Given the description of an element on the screen output the (x, y) to click on. 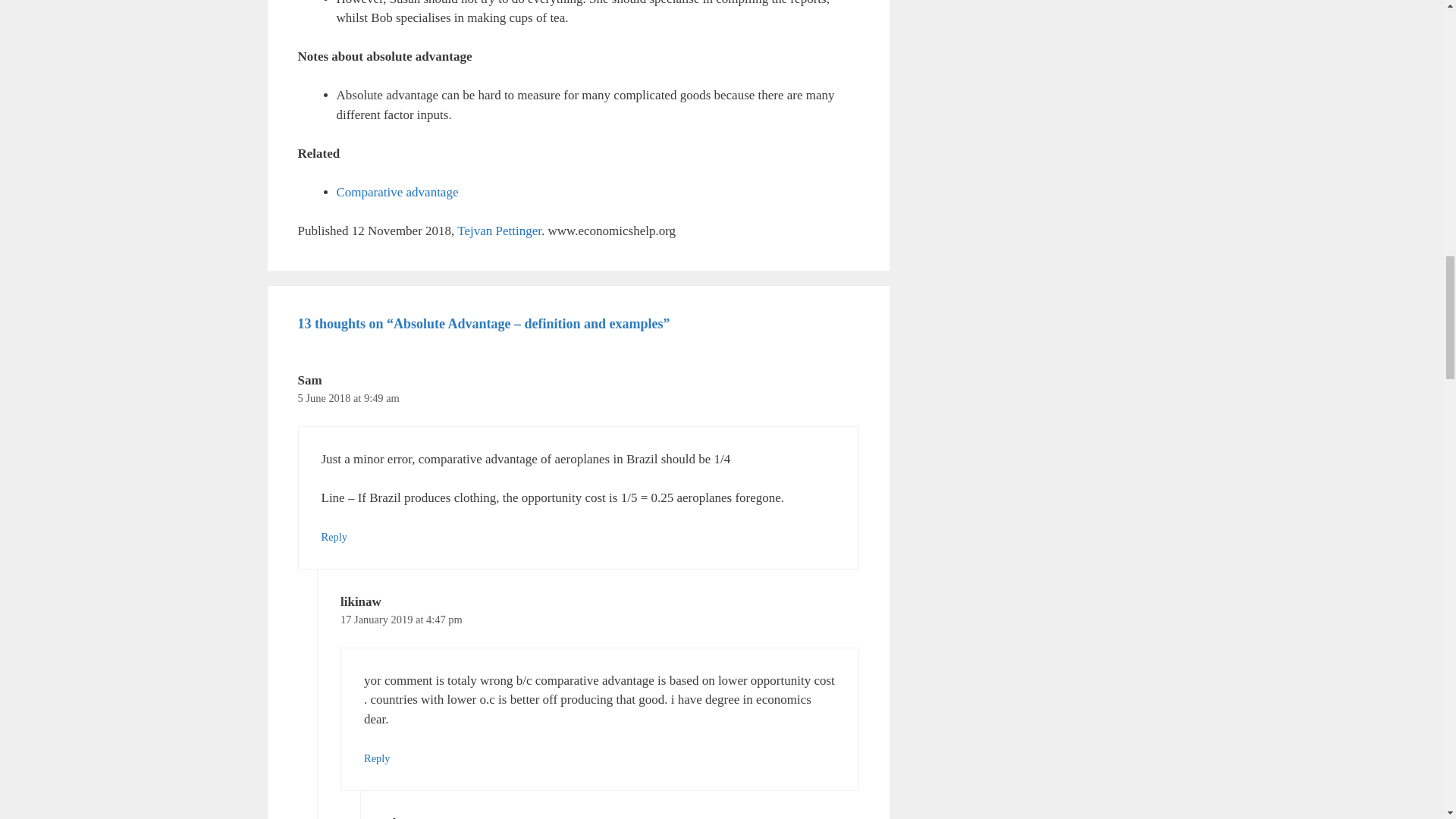
Comparative advantage (397, 192)
Reply (377, 758)
17 January 2019 at 4:47 pm (401, 619)
Tejvan Pettinger (499, 230)
5 June 2018 at 9:49 am (347, 398)
Reply (334, 536)
